Given the description of an element on the screen output the (x, y) to click on. 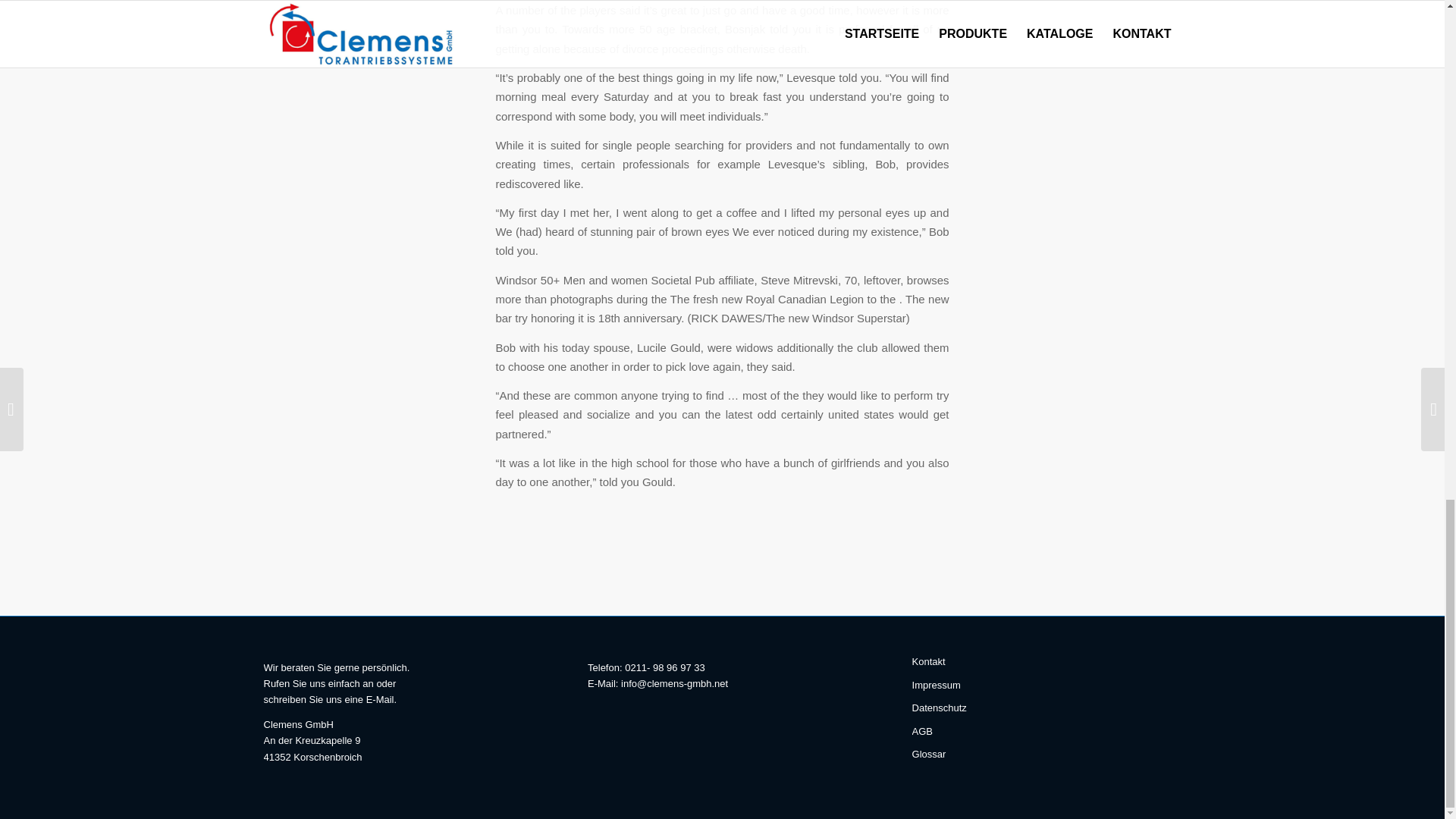
AGB (1046, 731)
0211- 98 96 97 33 (664, 667)
Kontakt (1046, 661)
Impressum (1046, 685)
Datenschutz (1046, 707)
Glossar (1046, 753)
